Given the description of an element on the screen output the (x, y) to click on. 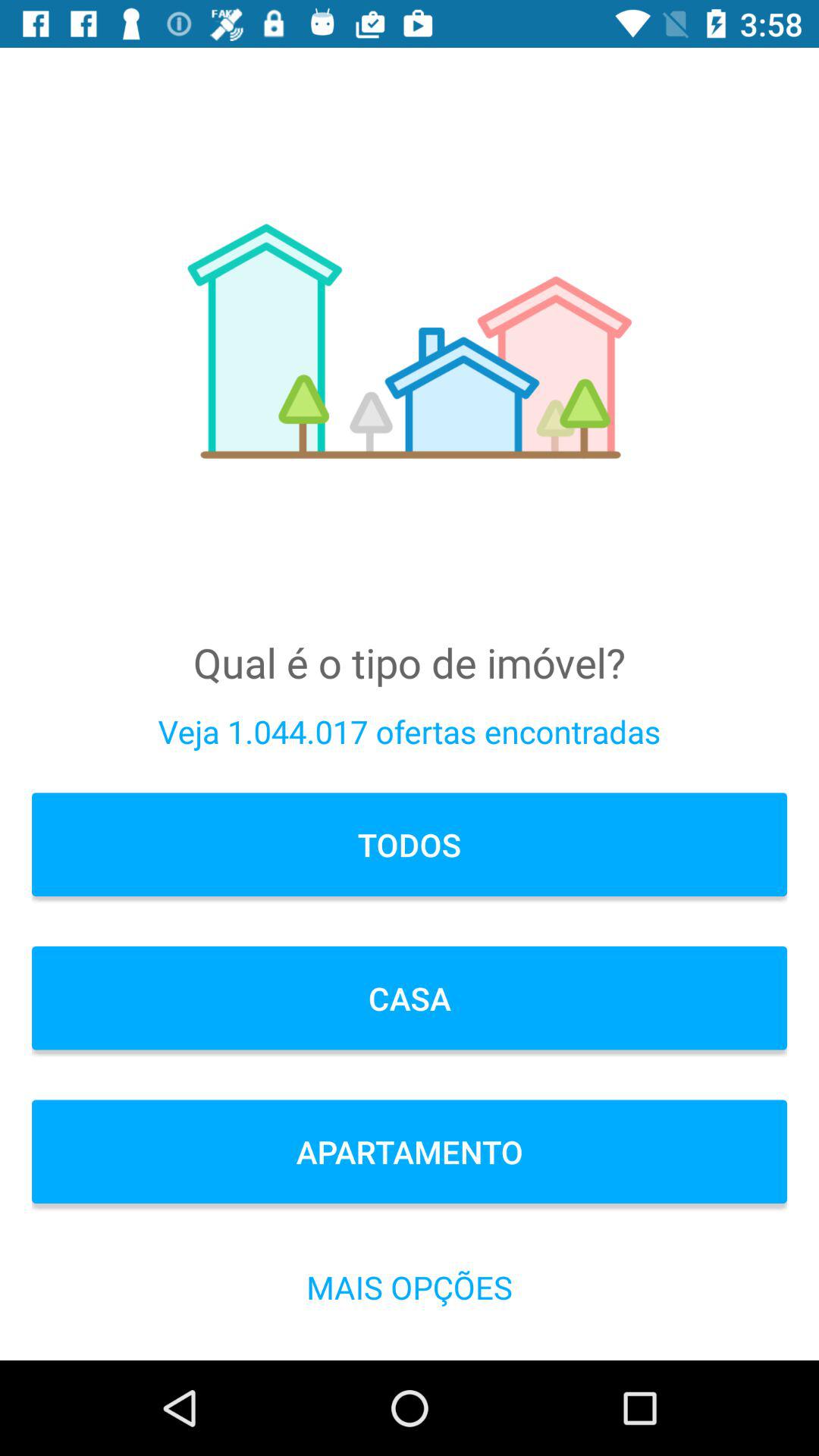
open item below veja 1 044 icon (409, 844)
